Given the description of an element on the screen output the (x, y) to click on. 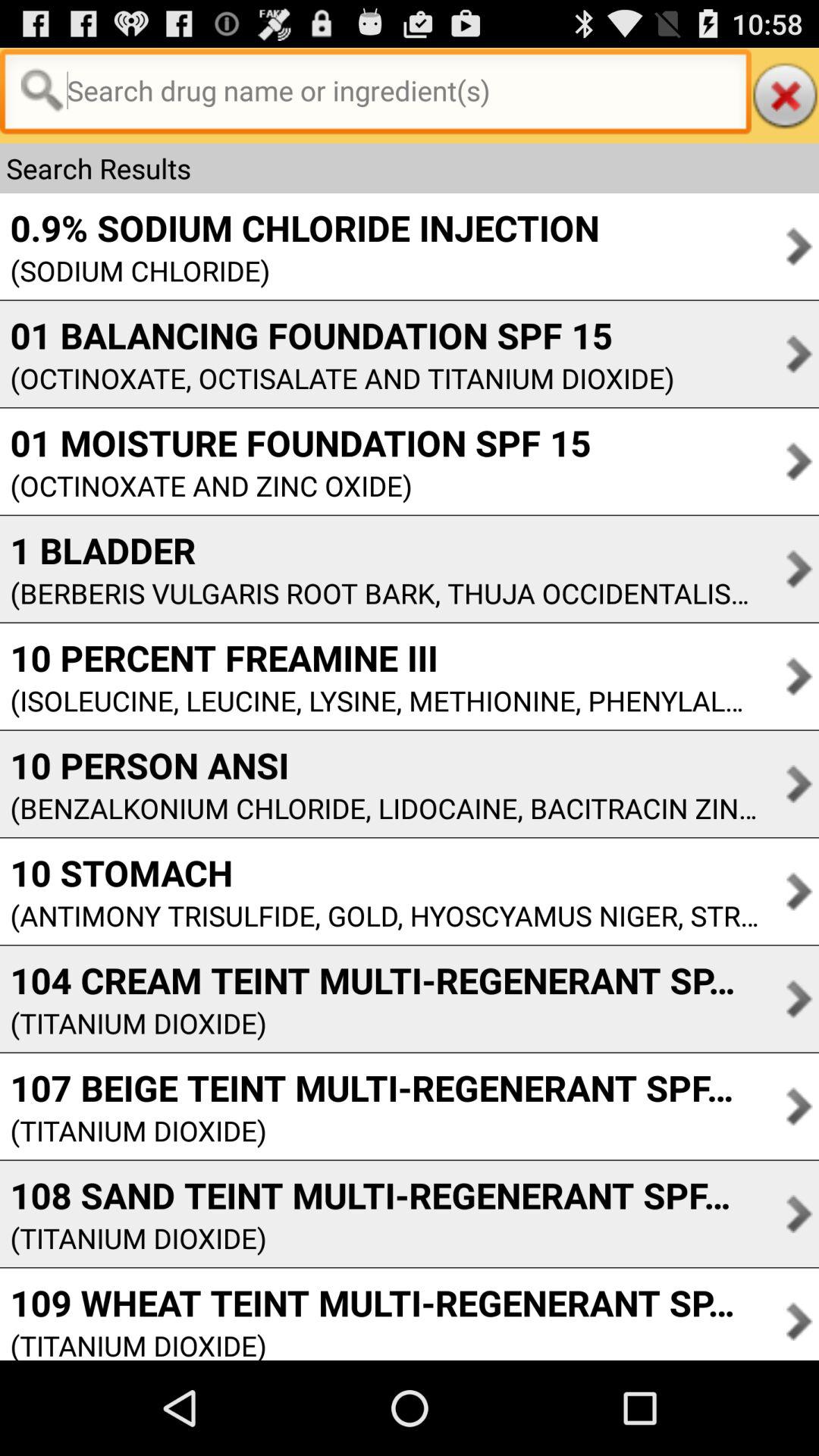
search button (375, 95)
